Given the description of an element on the screen output the (x, y) to click on. 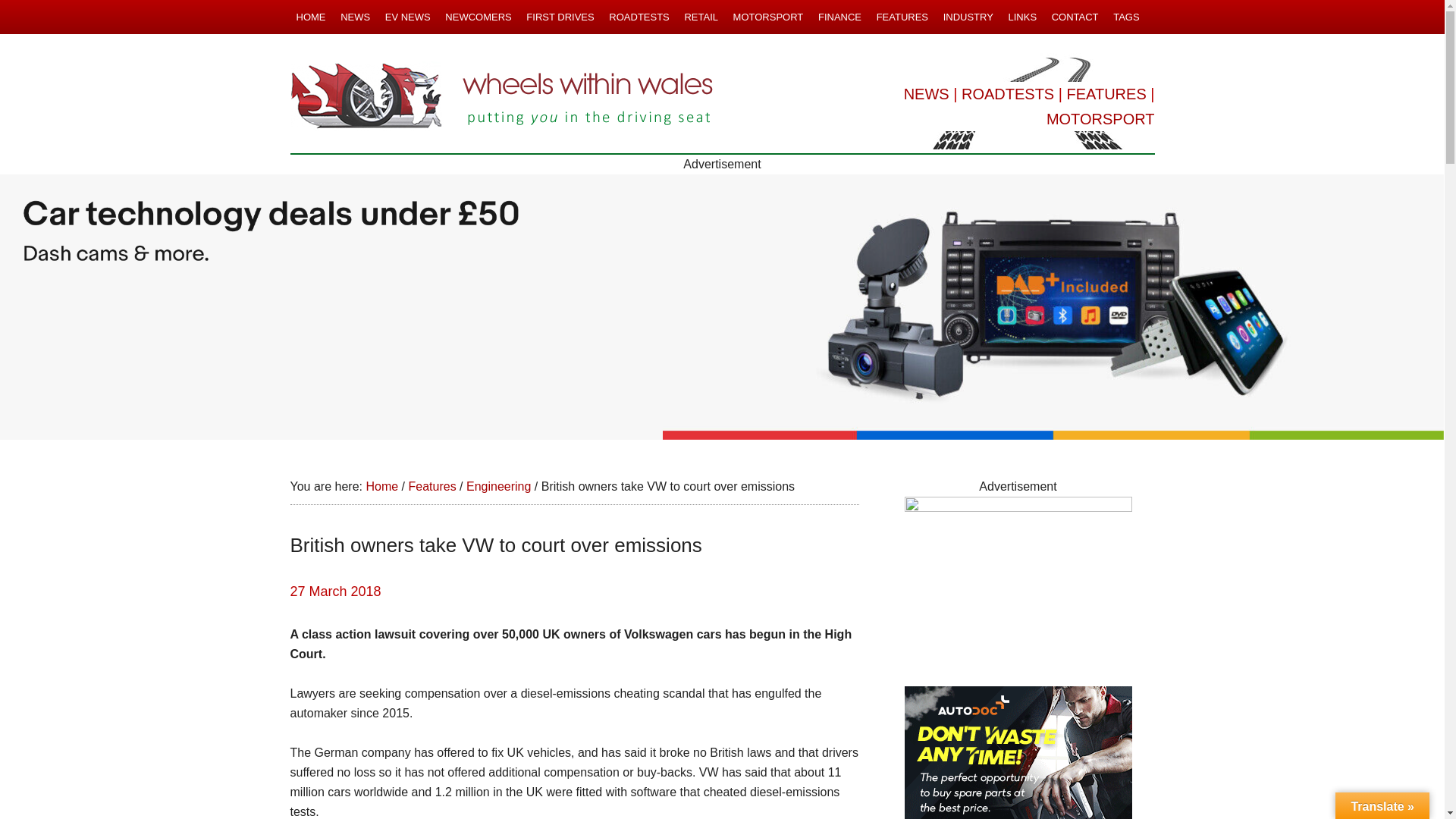
MOTORSPORT (1100, 118)
NEWCOMERS (477, 17)
Home (381, 486)
TAGS (1125, 17)
LINKS (1021, 17)
CONTACT (1075, 17)
HOME (310, 17)
RETAIL (700, 17)
FIRST DRIVES (559, 17)
EV NEWS (407, 17)
ROADTESTS (1007, 93)
Engineering (498, 486)
Wheels Within Wales (501, 96)
MOTORSPORT (767, 17)
NEWS (926, 93)
